Given the description of an element on the screen output the (x, y) to click on. 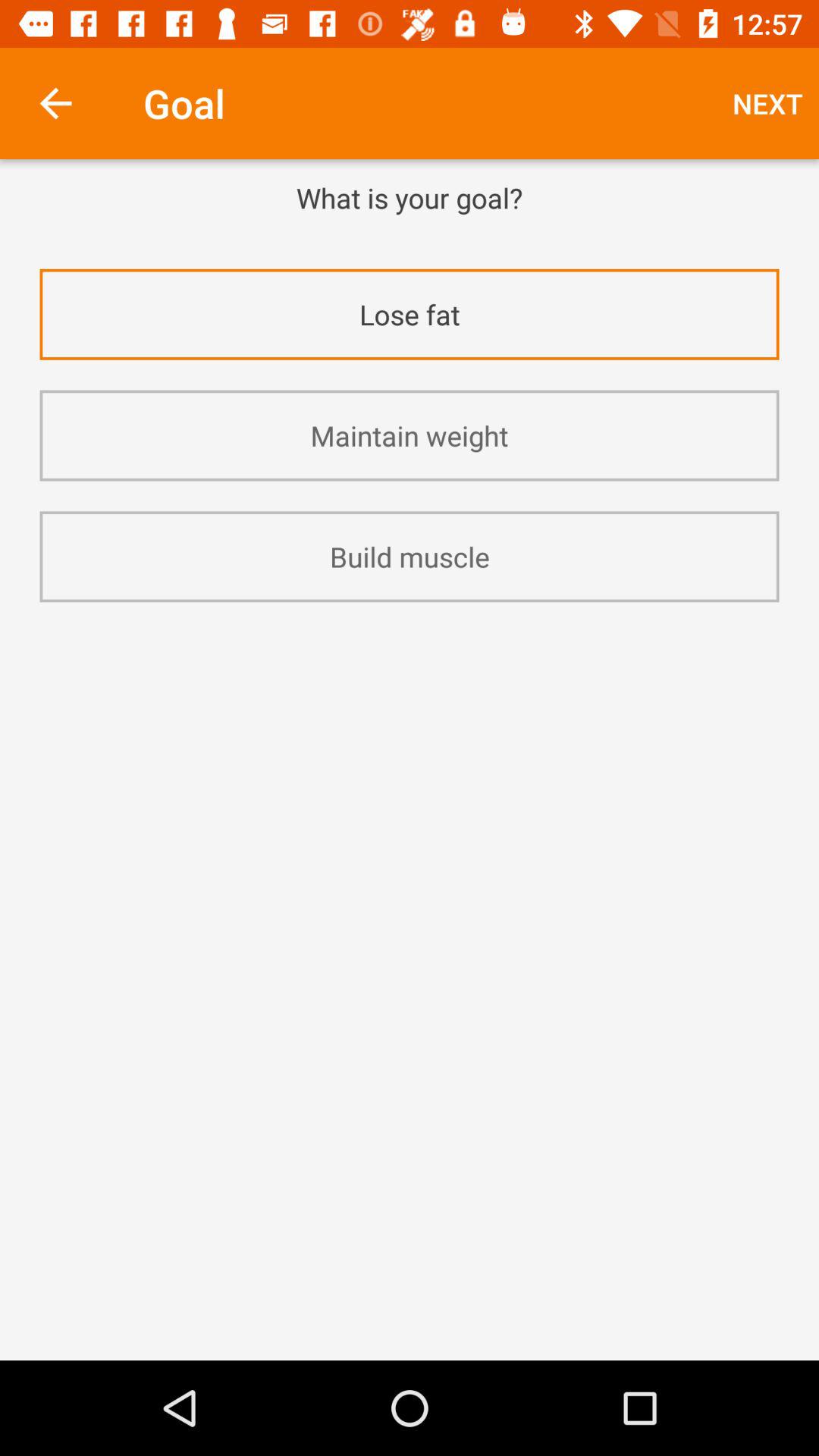
open the item above maintain weight icon (409, 314)
